Given the description of an element on the screen output the (x, y) to click on. 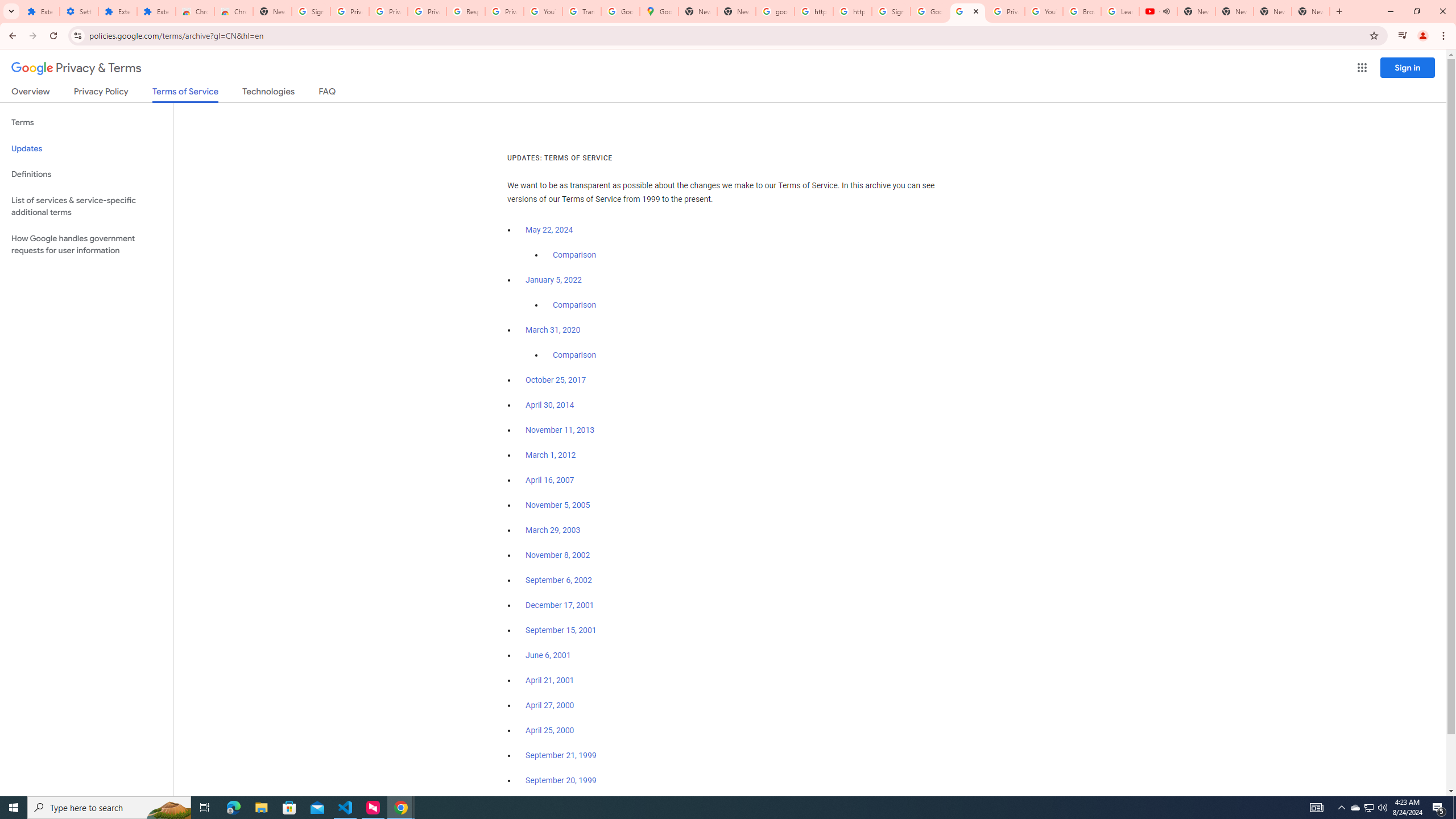
September 15, 2001 (560, 629)
Extensions (117, 11)
New Tab (272, 11)
April 21, 2001 (550, 679)
https://scholar.google.com/ (813, 11)
April 30, 2014 (550, 405)
March 1, 2012 (550, 455)
